Given the description of an element on the screen output the (x, y) to click on. 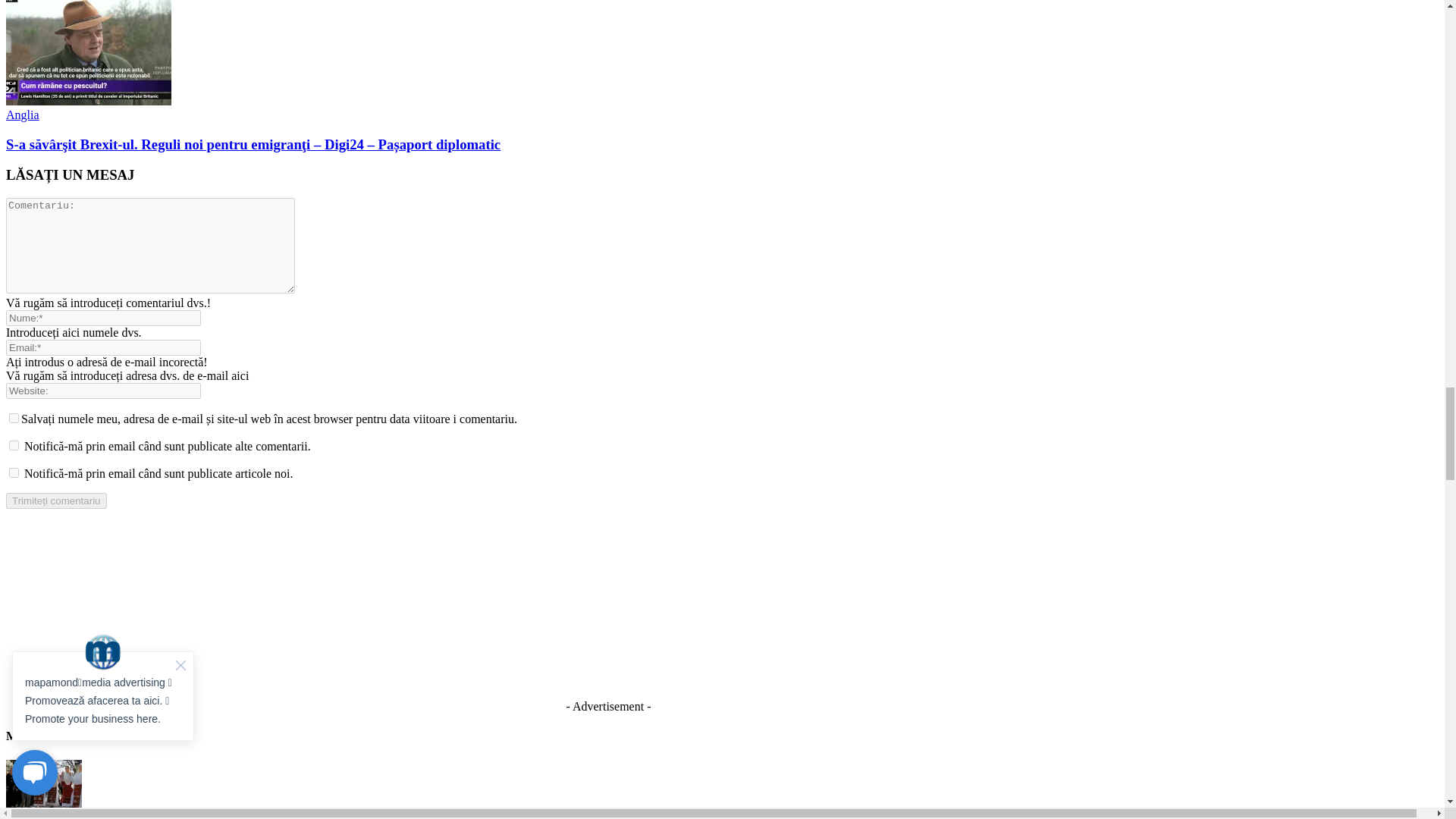
subscribe (13, 445)
yes (13, 418)
subscribe (13, 472)
